Given the description of an element on the screen output the (x, y) to click on. 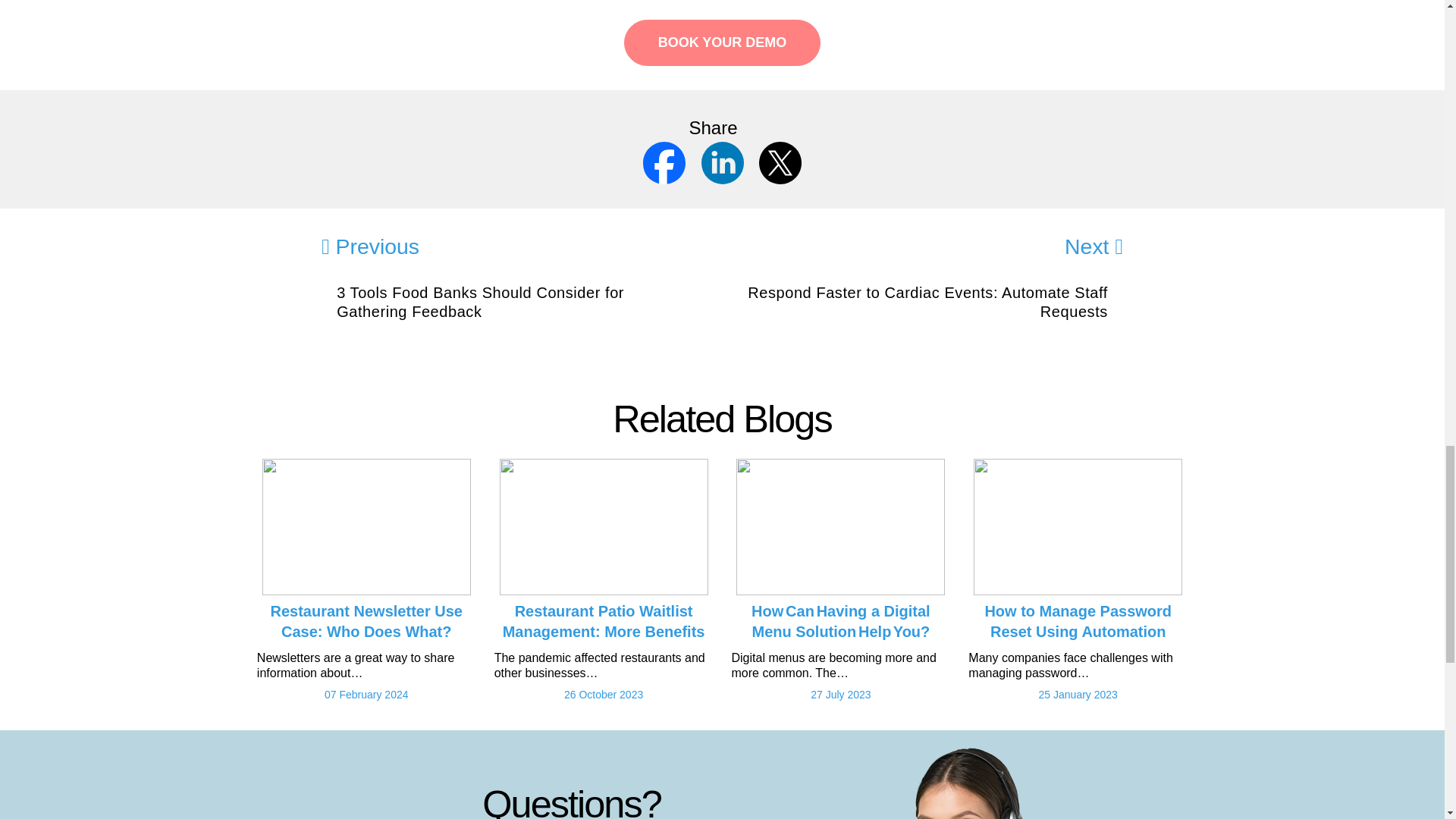
LinkedIn (722, 161)
Facebook (665, 161)
